Given the description of an element on the screen output the (x, y) to click on. 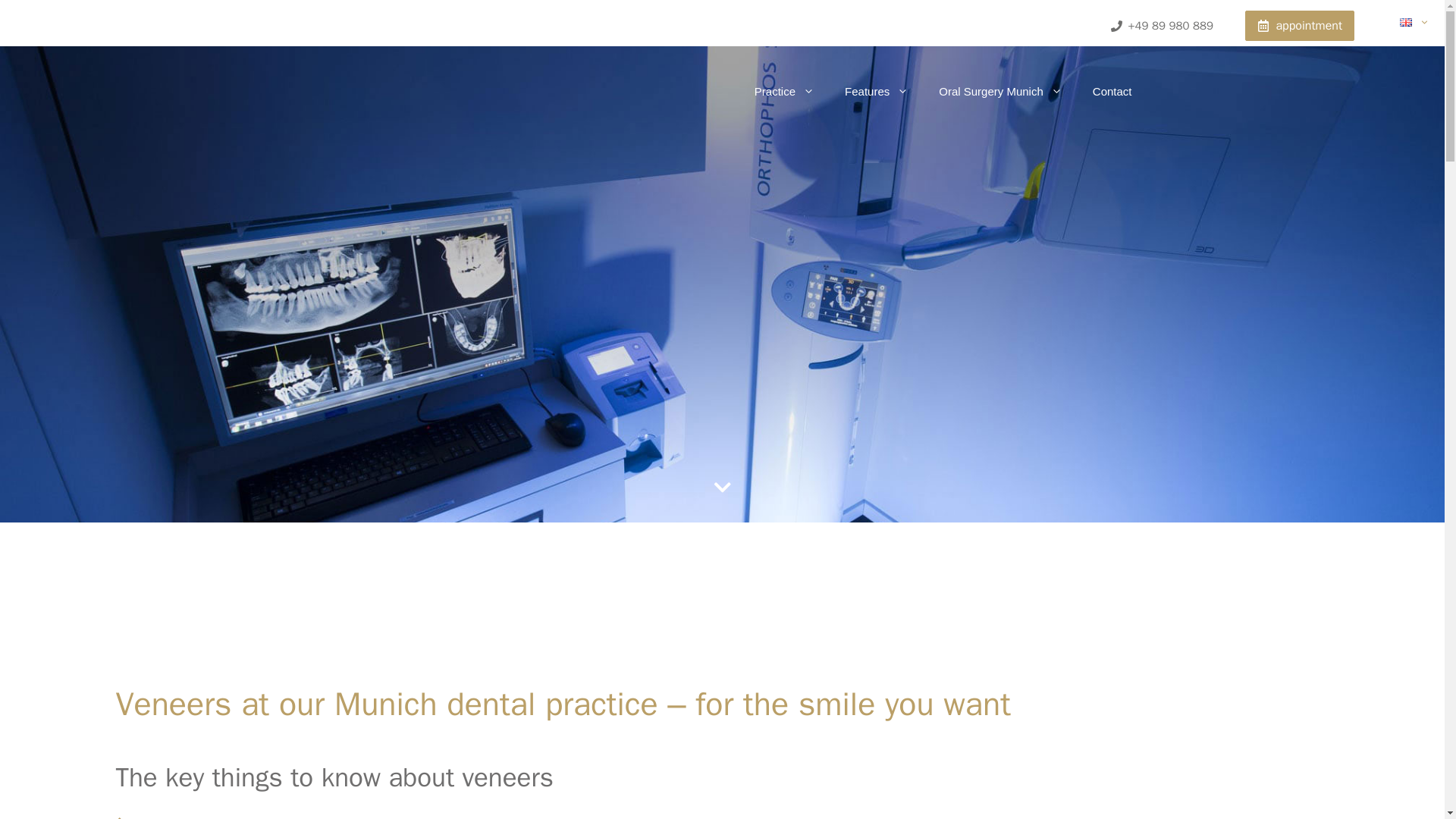
Open Cookie Preferences (32, 799)
Oral Surgery Munich (1000, 91)
Features (876, 91)
appointment (1299, 25)
Practice (784, 91)
